Given the description of an element on the screen output the (x, y) to click on. 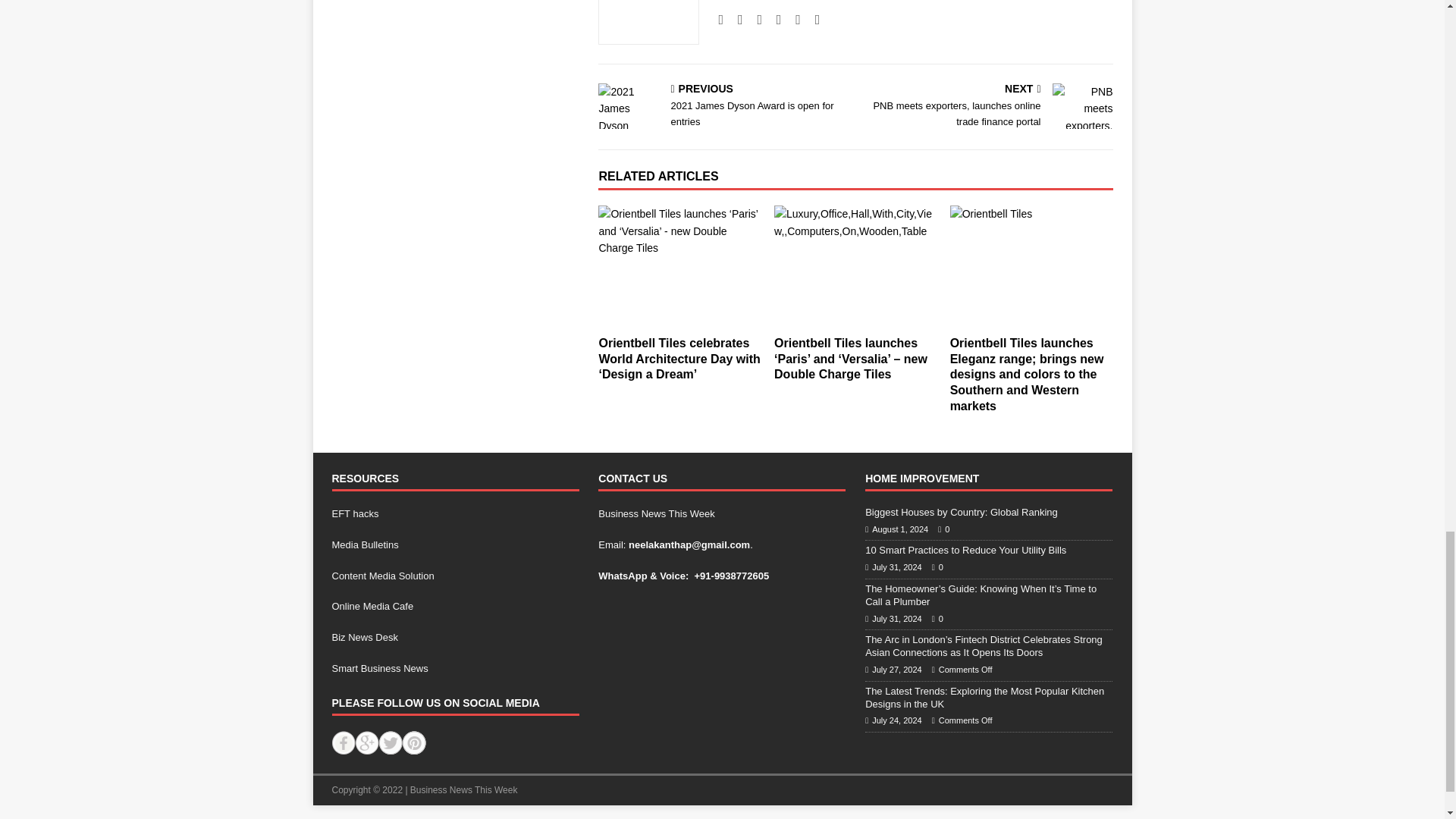
Follow Neel Achary on Facebook (734, 19)
Follow Neel Achary on Instagram (753, 19)
